Given the description of an element on the screen output the (x, y) to click on. 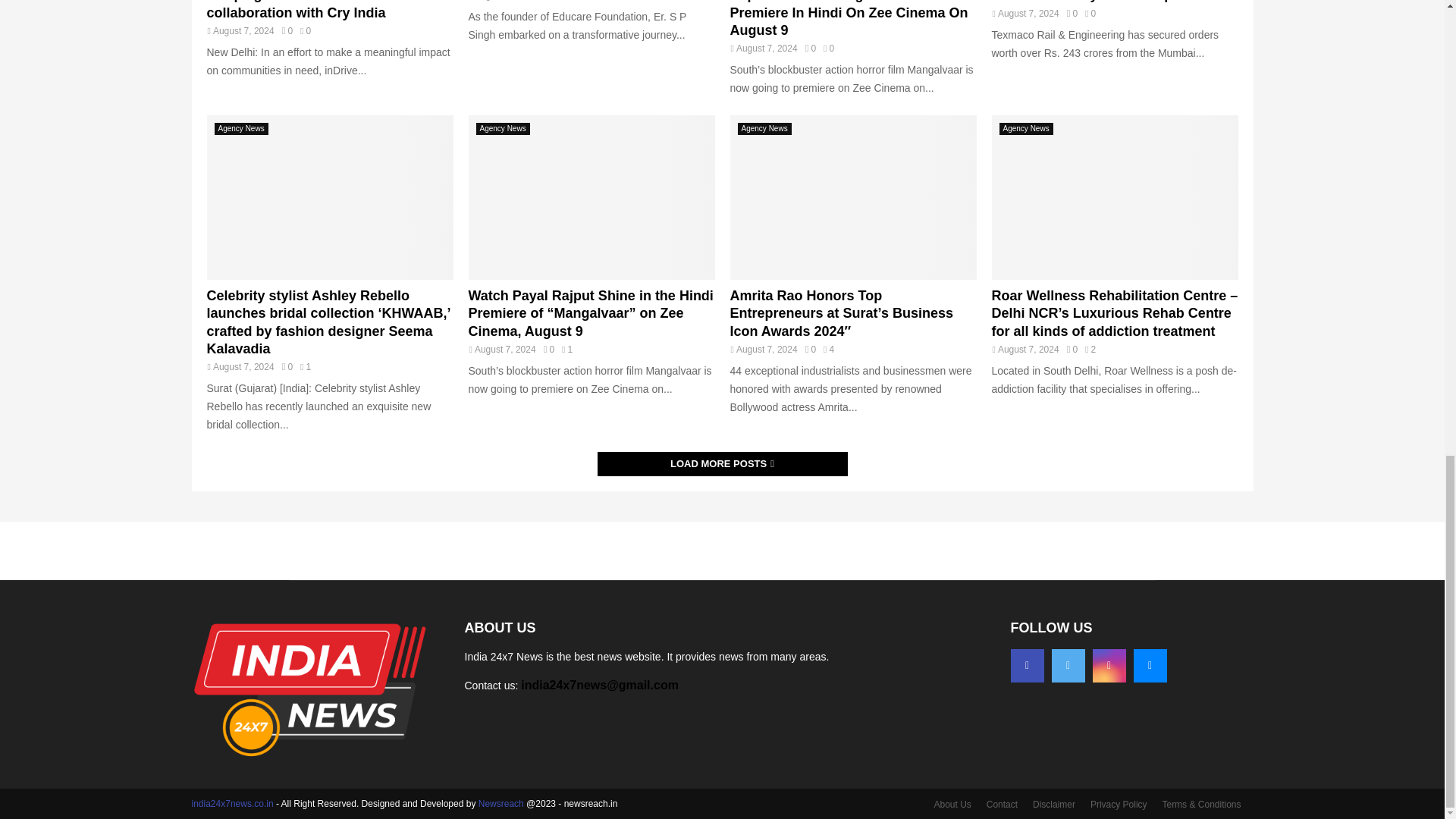
0 (287, 30)
0 (810, 48)
View all posts in Agency News (240, 128)
Agency News (240, 128)
0 (1072, 13)
0 (287, 366)
